Given the description of an element on the screen output the (x, y) to click on. 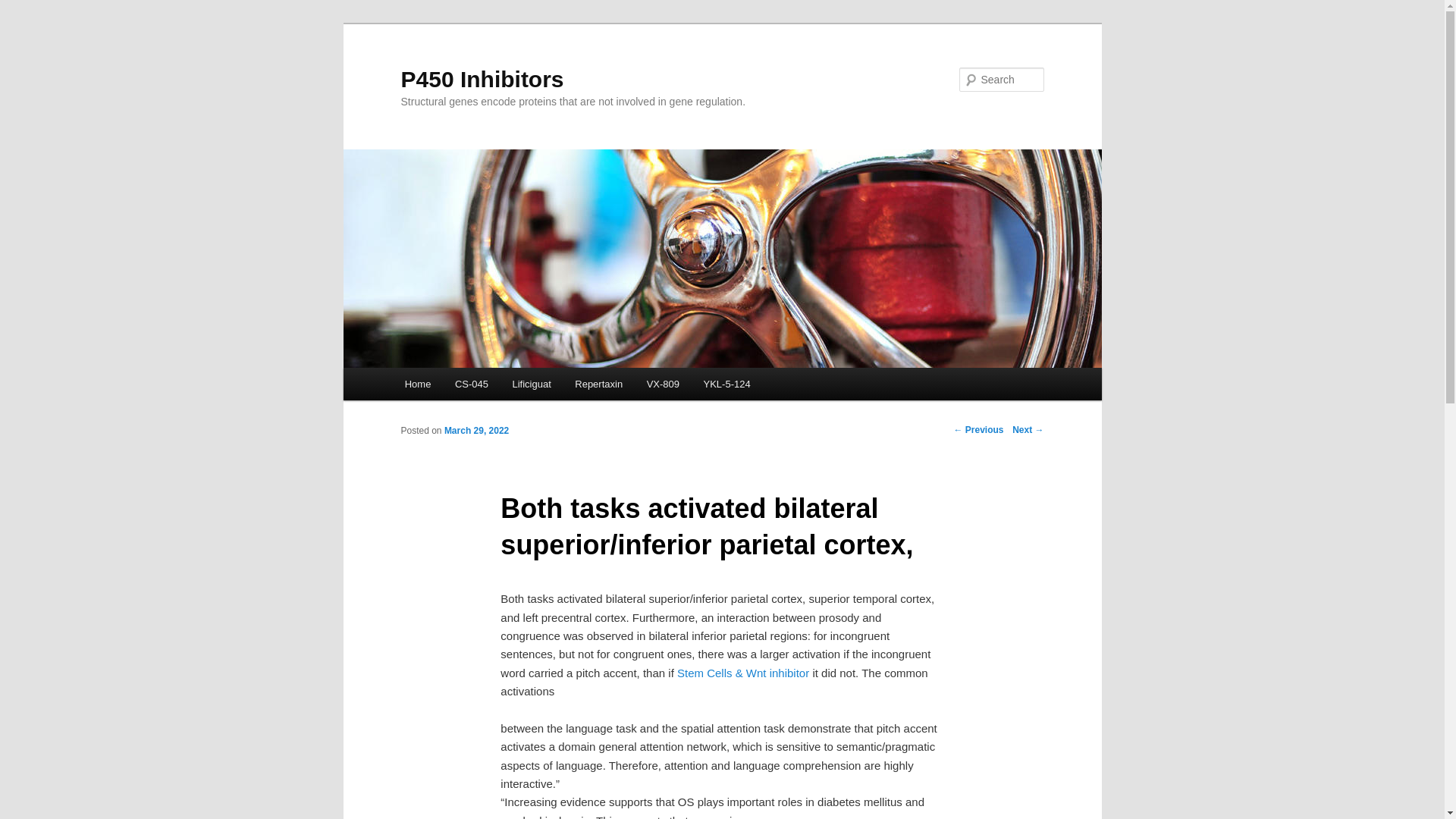
Repertaxin (598, 383)
Skip to primary content (472, 386)
Skip to secondary content (479, 386)
Skip to secondary content (479, 386)
Home (417, 383)
Skip to primary content (472, 386)
Lificiguat (531, 383)
CS-045 (471, 383)
Search (24, 8)
March 29, 2022 (476, 430)
Home (417, 383)
VX-809 (662, 383)
2:33 am (476, 430)
P450 Inhibitors (481, 78)
YKL-5-124 (726, 383)
